Given the description of an element on the screen output the (x, y) to click on. 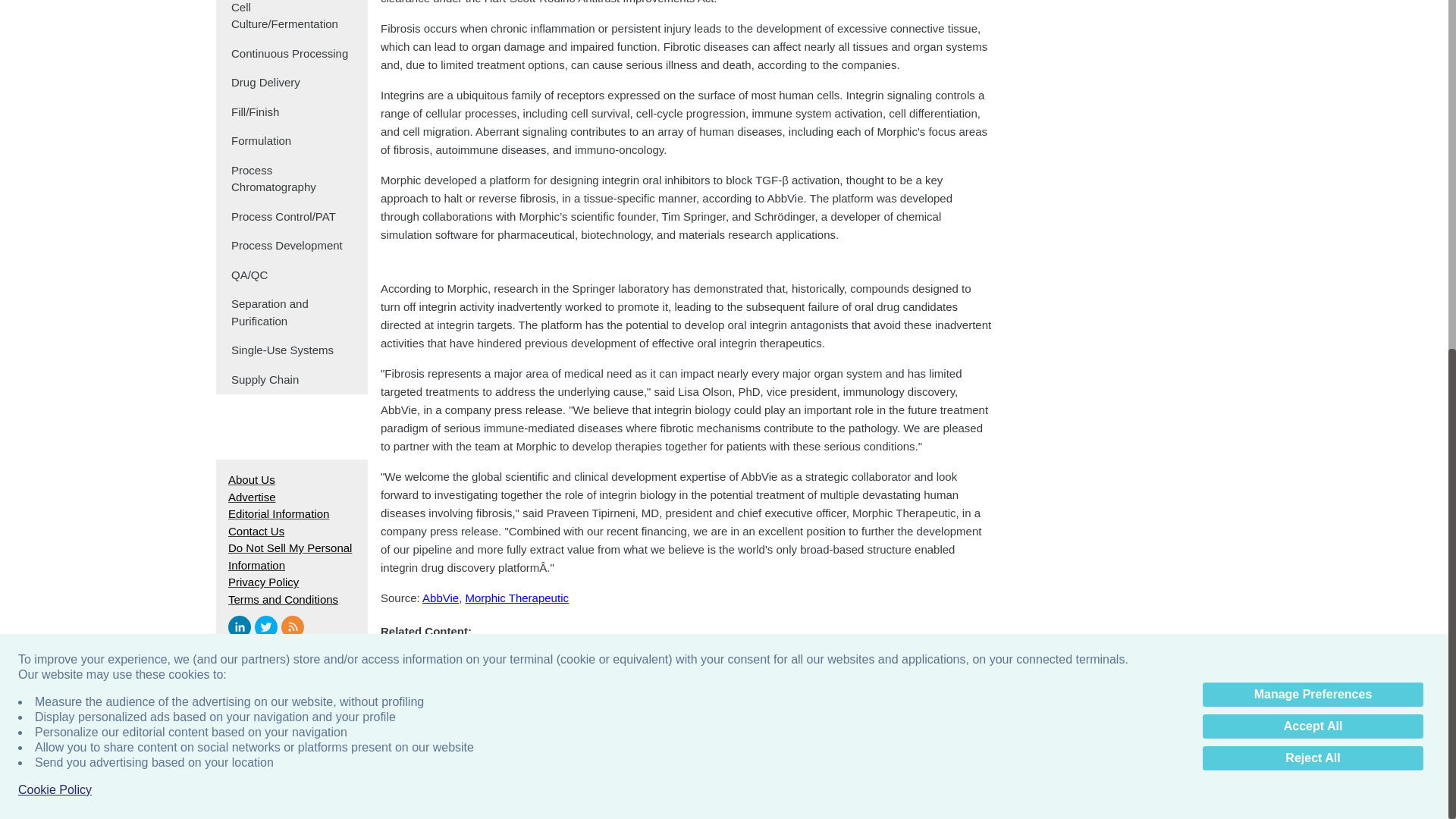
3rd party ad content (1117, 4)
3rd party ad content (723, 173)
Accept All (1312, 118)
Reject All (1312, 150)
Cookie Policy (54, 182)
Manage Preferences (1312, 86)
